Given the description of an element on the screen output the (x, y) to click on. 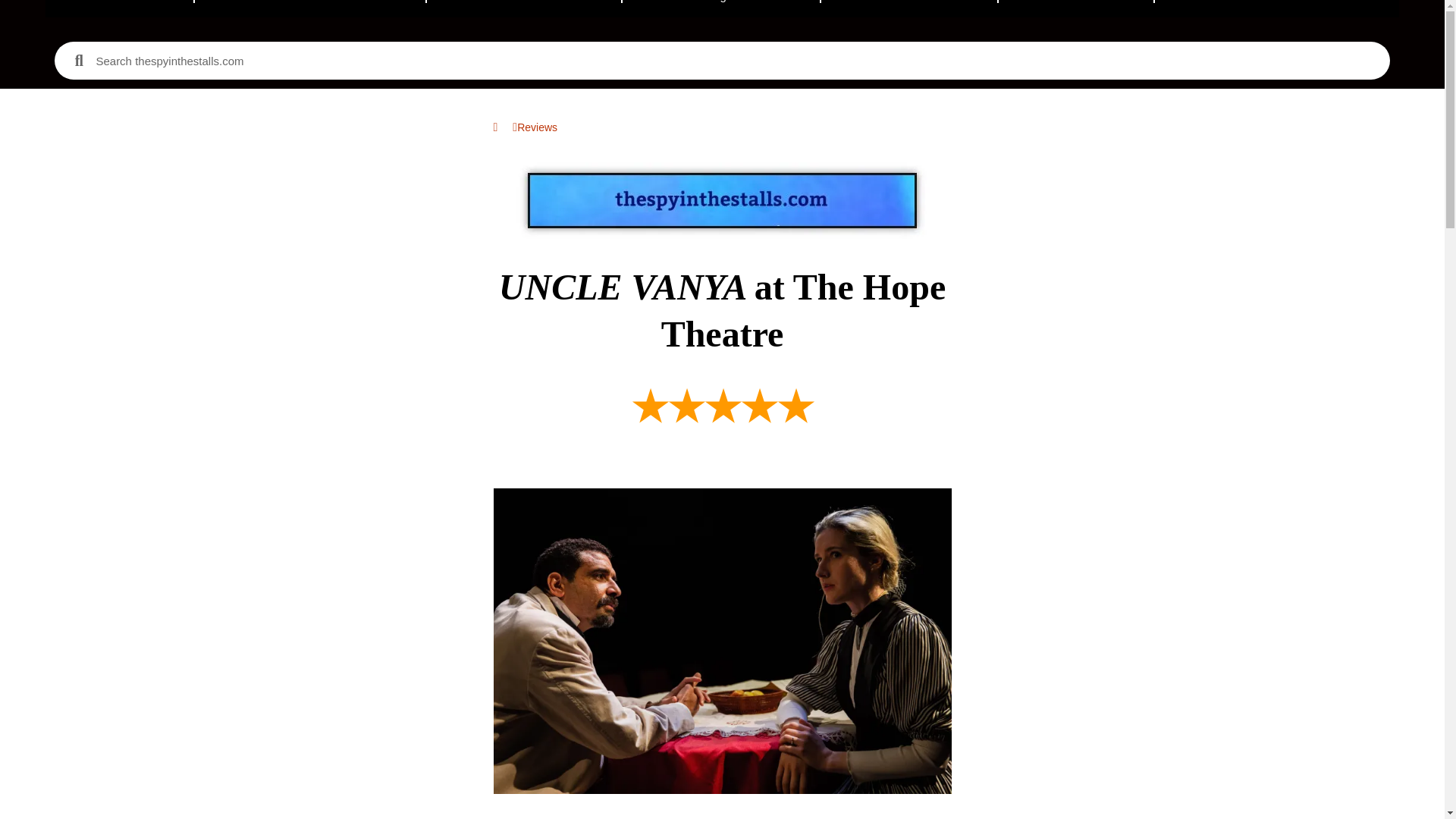
Archive (1075, 8)
Recommended Shows (310, 8)
Home (119, 8)
Show Index (909, 8)
Latest Reviews (523, 8)
Edinburgh 2024 (721, 8)
